Given the description of an element on the screen output the (x, y) to click on. 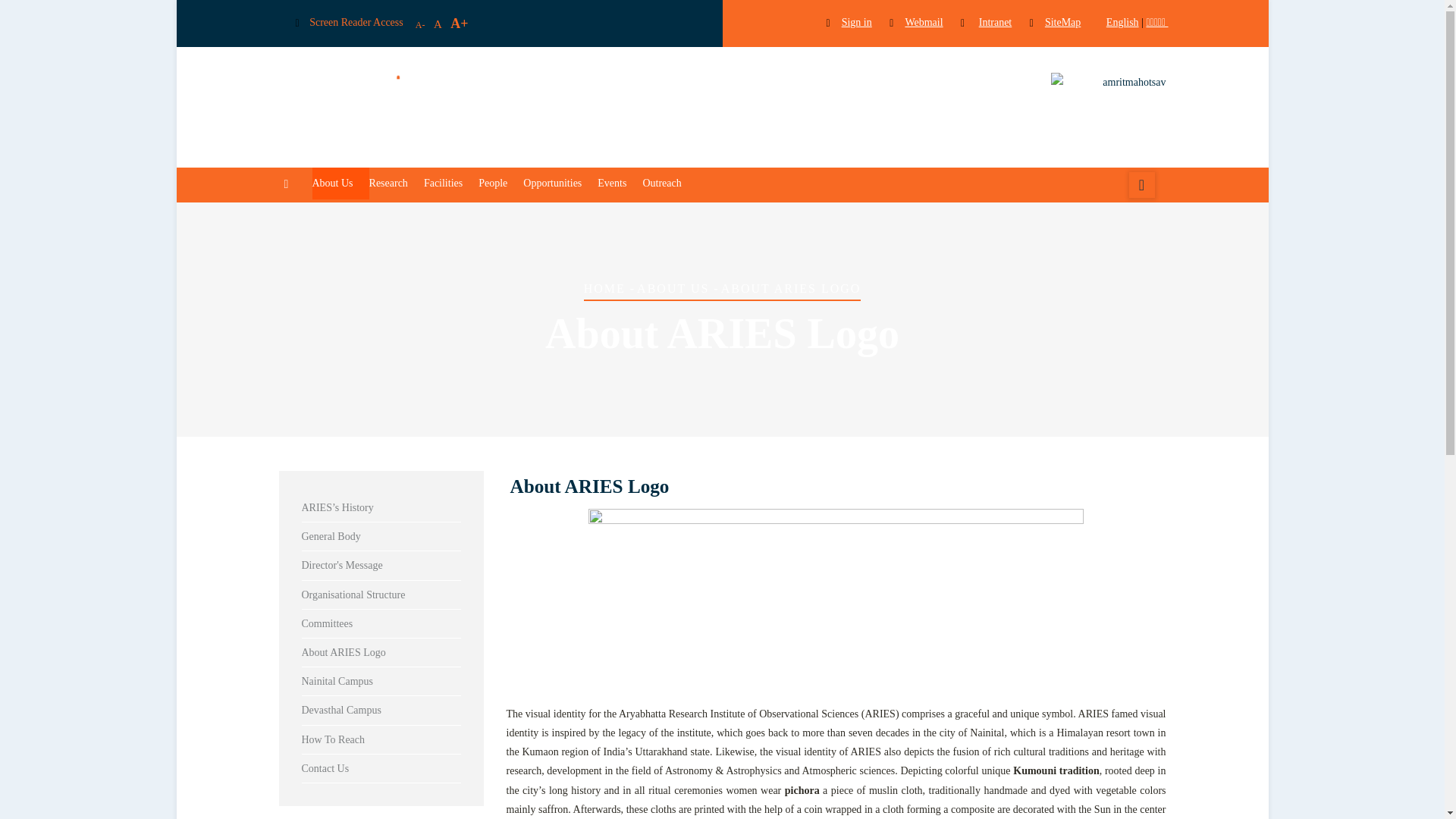
Facilities (451, 183)
Screen Reader Access (355, 21)
About Us (341, 183)
English (1114, 21)
Research (396, 183)
Home (609, 103)
Intranet (997, 21)
Webmail (925, 21)
A- (419, 24)
